Given the description of an element on the screen output the (x, y) to click on. 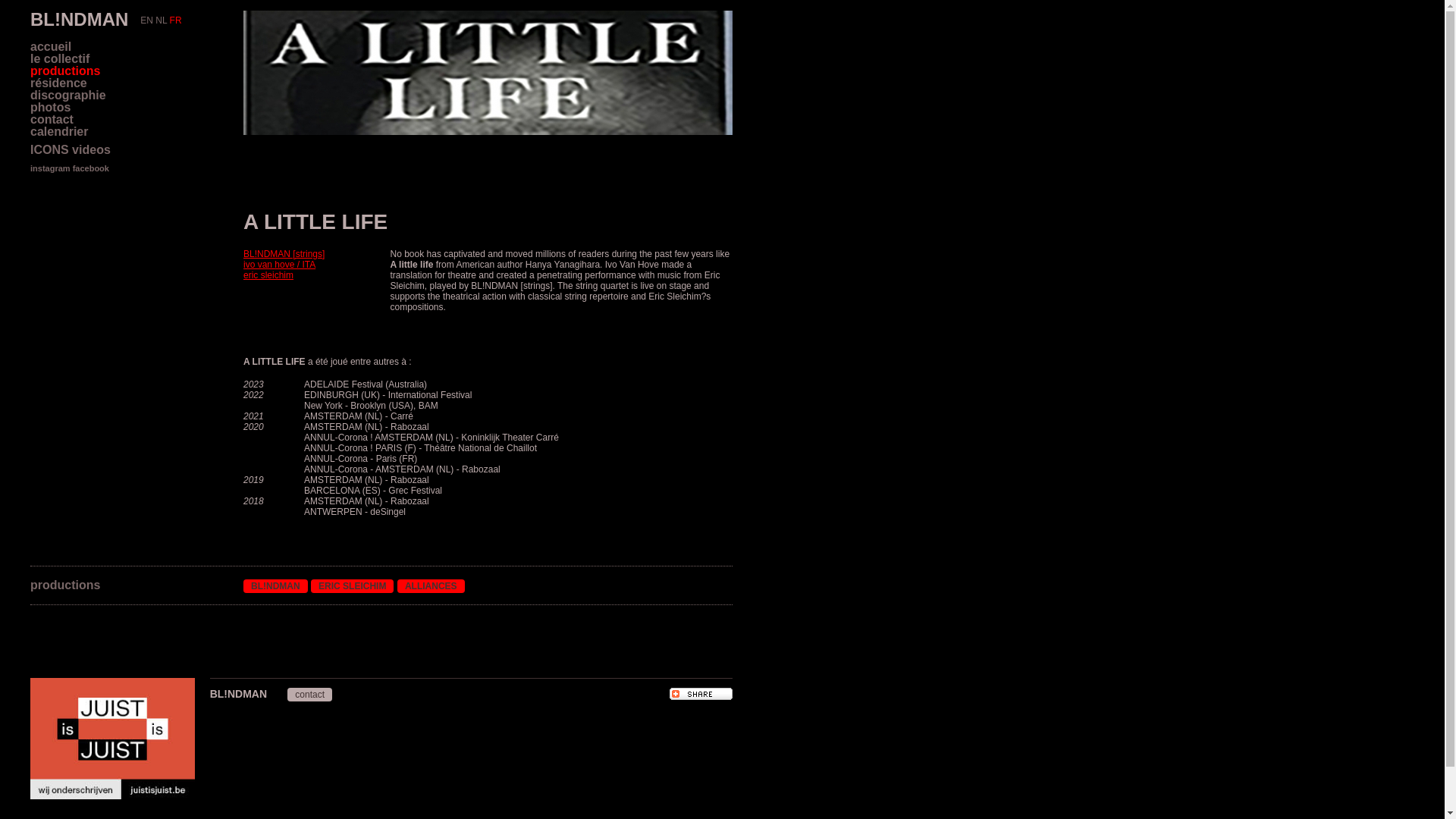
eric sleichim Element type: text (268, 274)
instagram Element type: text (50, 167)
FR Element type: text (175, 20)
accueil Element type: text (50, 46)
ICONS videos Element type: text (70, 149)
contact Element type: text (309, 693)
ERIC SLEICHIM Element type: text (351, 586)
calendrier Element type: text (58, 131)
EN Element type: text (146, 20)
ALLIANCES Element type: text (430, 586)
facebook Element type: text (90, 167)
photos Element type: text (50, 106)
discographie Element type: text (68, 94)
BL!NDMAN [strings] Element type: text (283, 253)
BL!NDMAN Element type: text (275, 586)
productions Element type: text (65, 70)
le collectif Element type: text (59, 58)
NL Element type: text (160, 20)
ivo van hove / ITA Element type: text (279, 264)
contact Element type: text (51, 118)
